Given the description of an element on the screen output the (x, y) to click on. 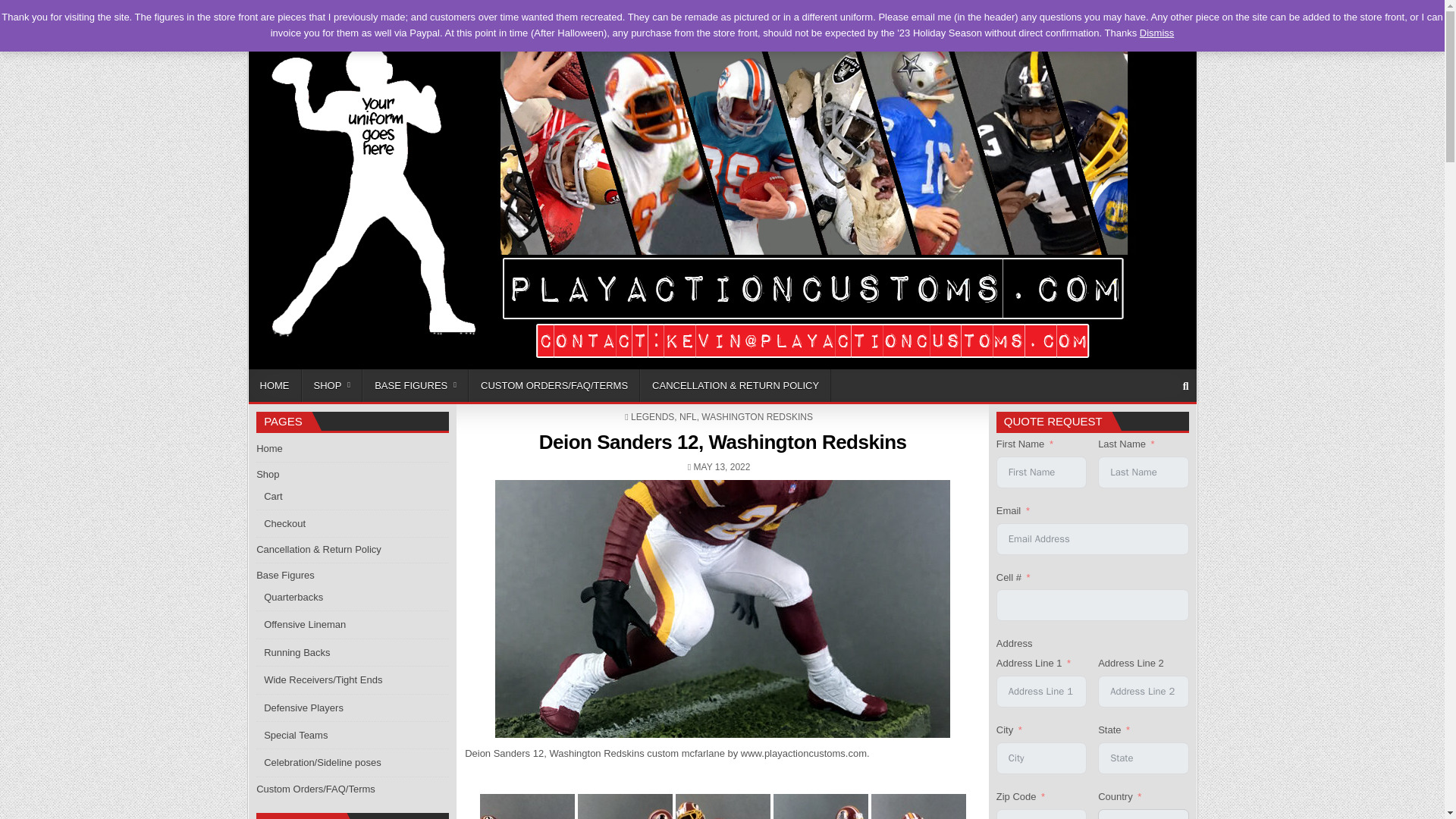
BASE FIGURES (415, 385)
WASHINGTON REDSKINS (756, 416)
Deion Sanders 12, Washington Redskins (722, 441)
LEGENDS (652, 416)
SHOP (327, 20)
BASE FIGURES (591, 20)
SHOP (331, 385)
HOME (274, 20)
NFL (688, 416)
HOME (274, 385)
